Given the description of an element on the screen output the (x, y) to click on. 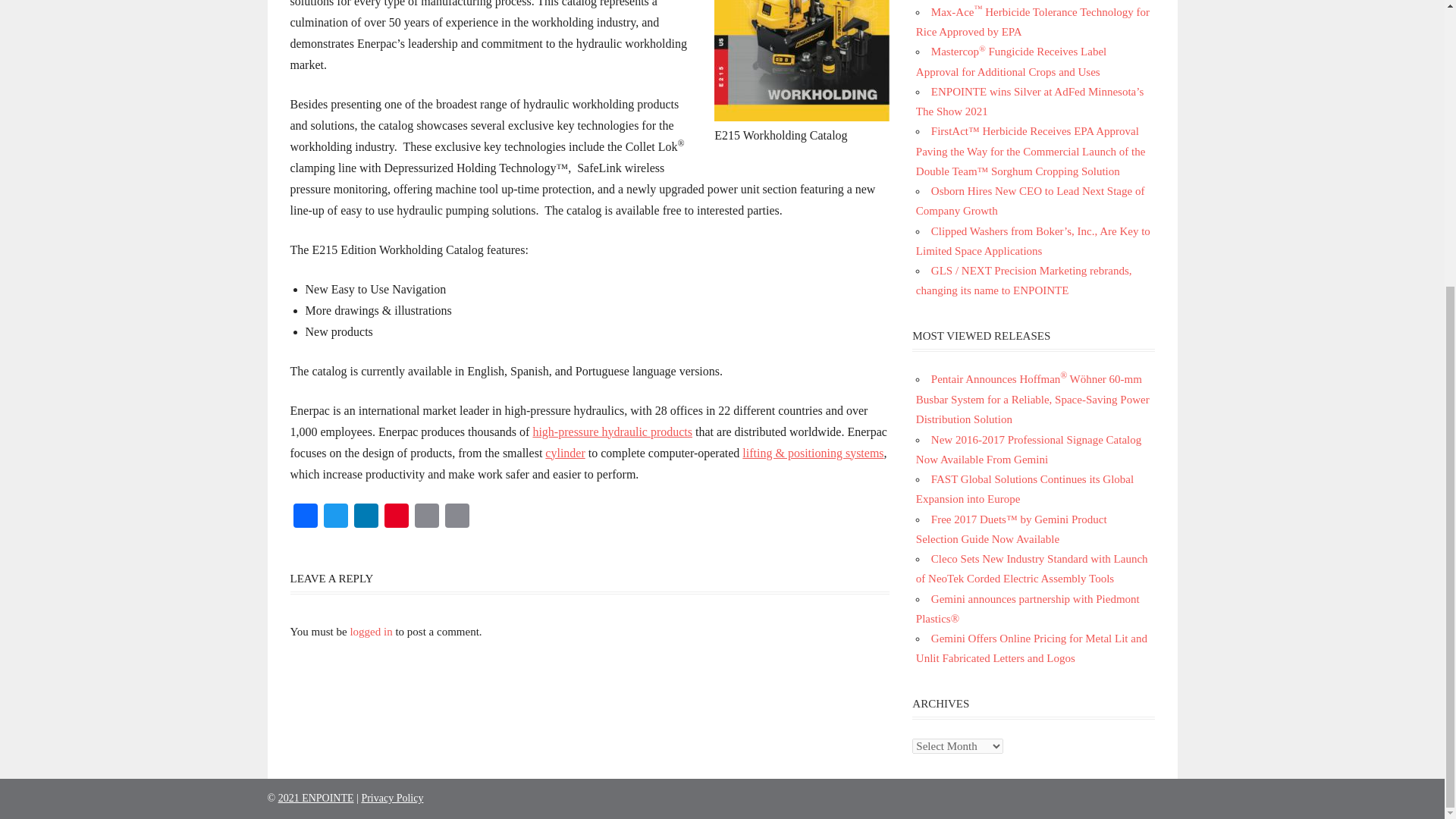
Facebook (304, 517)
Copy Link (456, 517)
Twitter (335, 517)
Email (425, 517)
Pinterest (395, 517)
LinkedIn (365, 517)
